Given the description of an element on the screen output the (x, y) to click on. 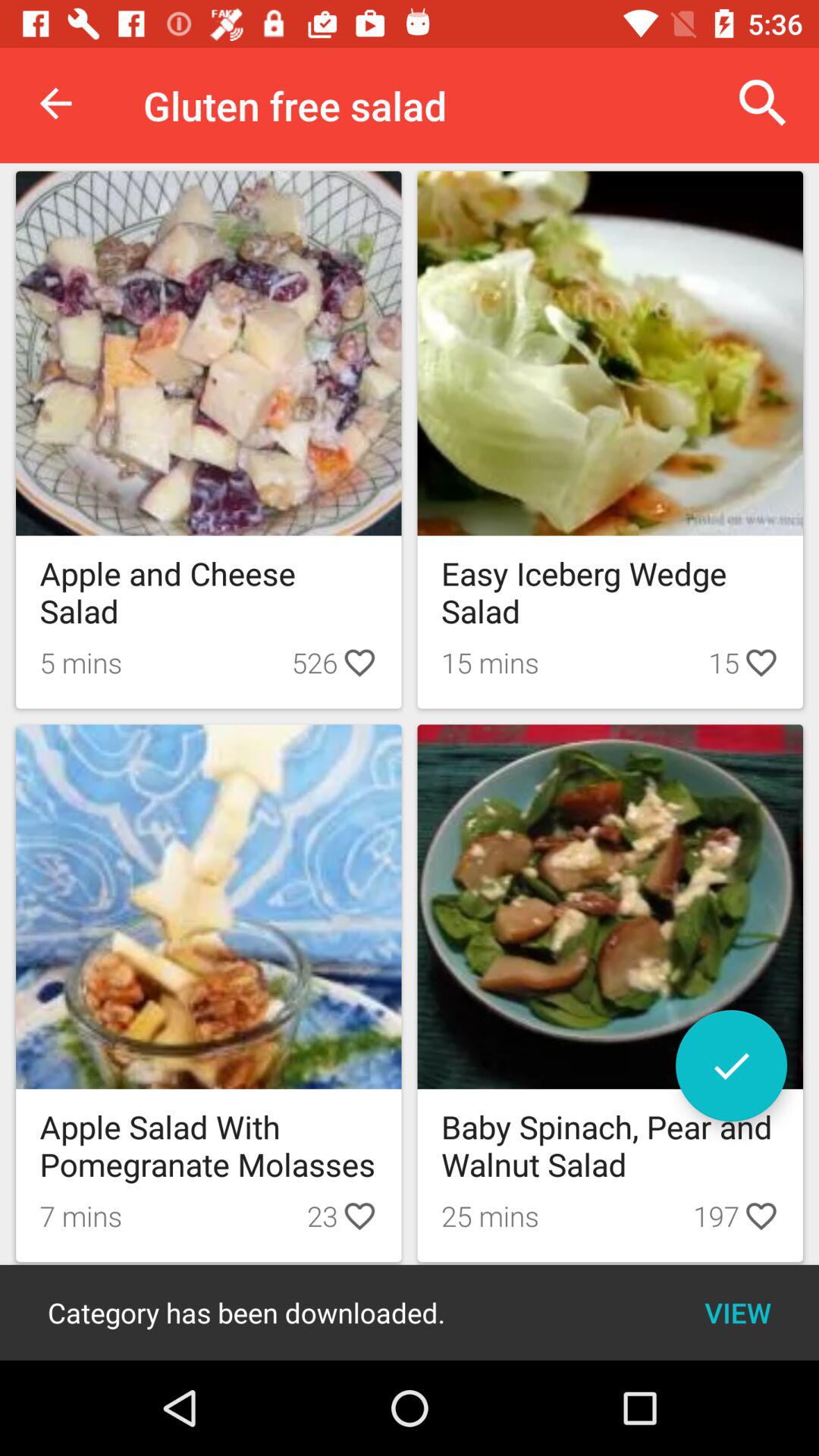
launch icon next to the category has been icon (737, 1312)
